Given the description of an element on the screen output the (x, y) to click on. 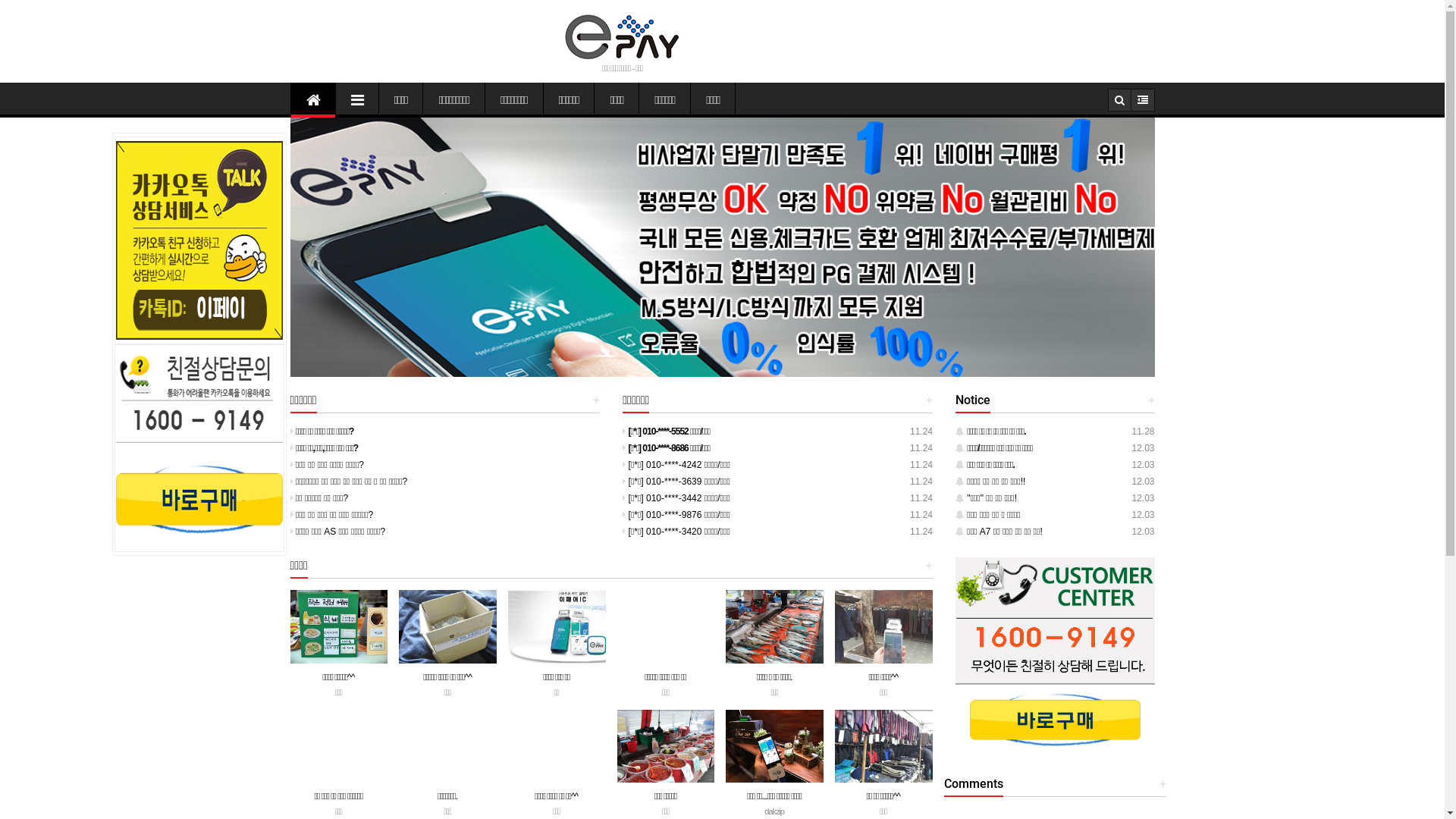
+
Comments Element type: text (973, 784)
+
Notice Element type: text (972, 400)
